Given the description of an element on the screen output the (x, y) to click on. 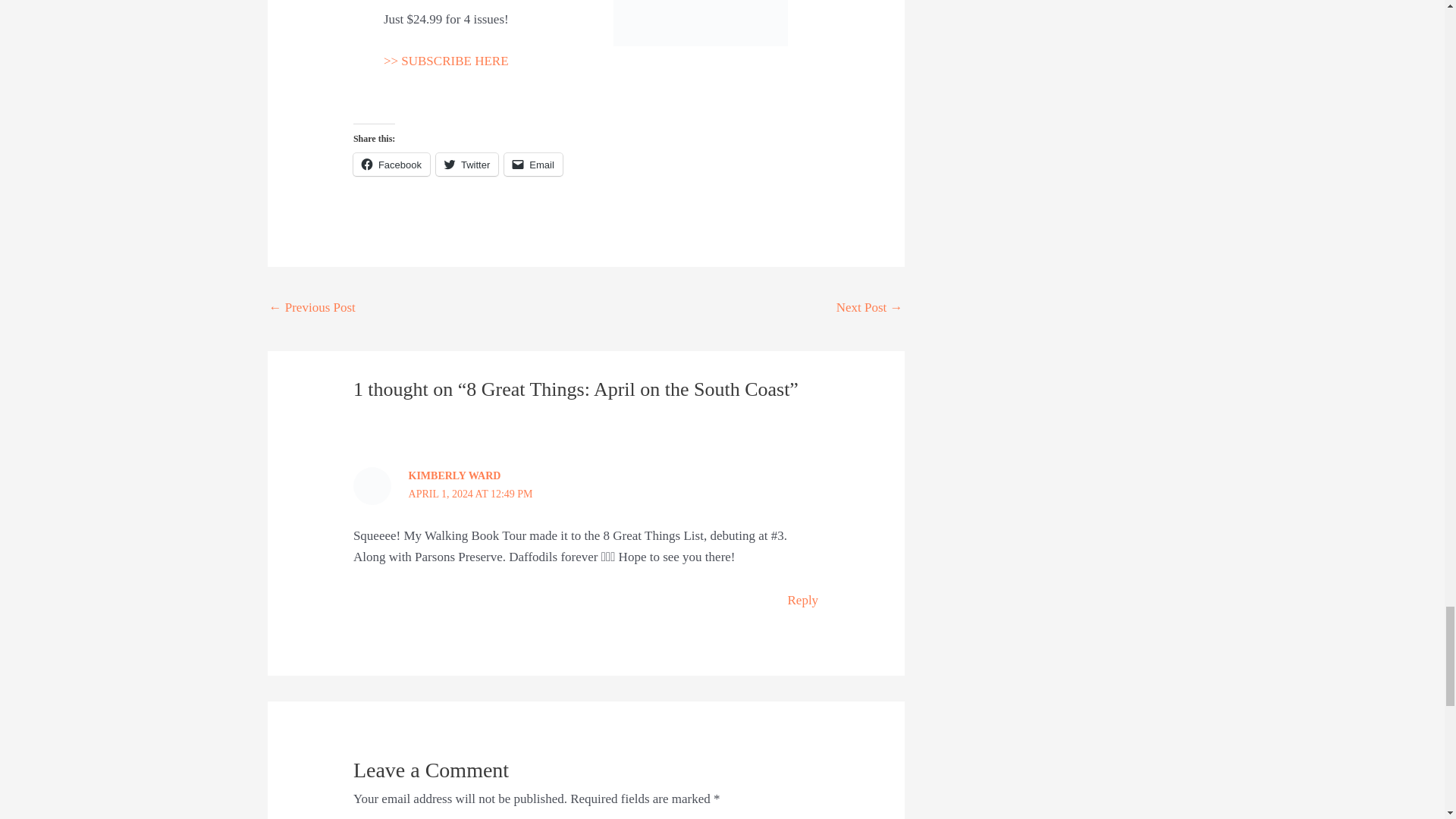
At Toast N' Jam, it's breakfast as dinner! (868, 309)
Click to share on Twitter (466, 164)
Click to email a link to a friend (532, 164)
Facebook (391, 164)
Twitter (466, 164)
Click to share on Facebook (391, 164)
Ansel's Cafe: A fairyland with great food in Marion (311, 309)
